Given the description of an element on the screen output the (x, y) to click on. 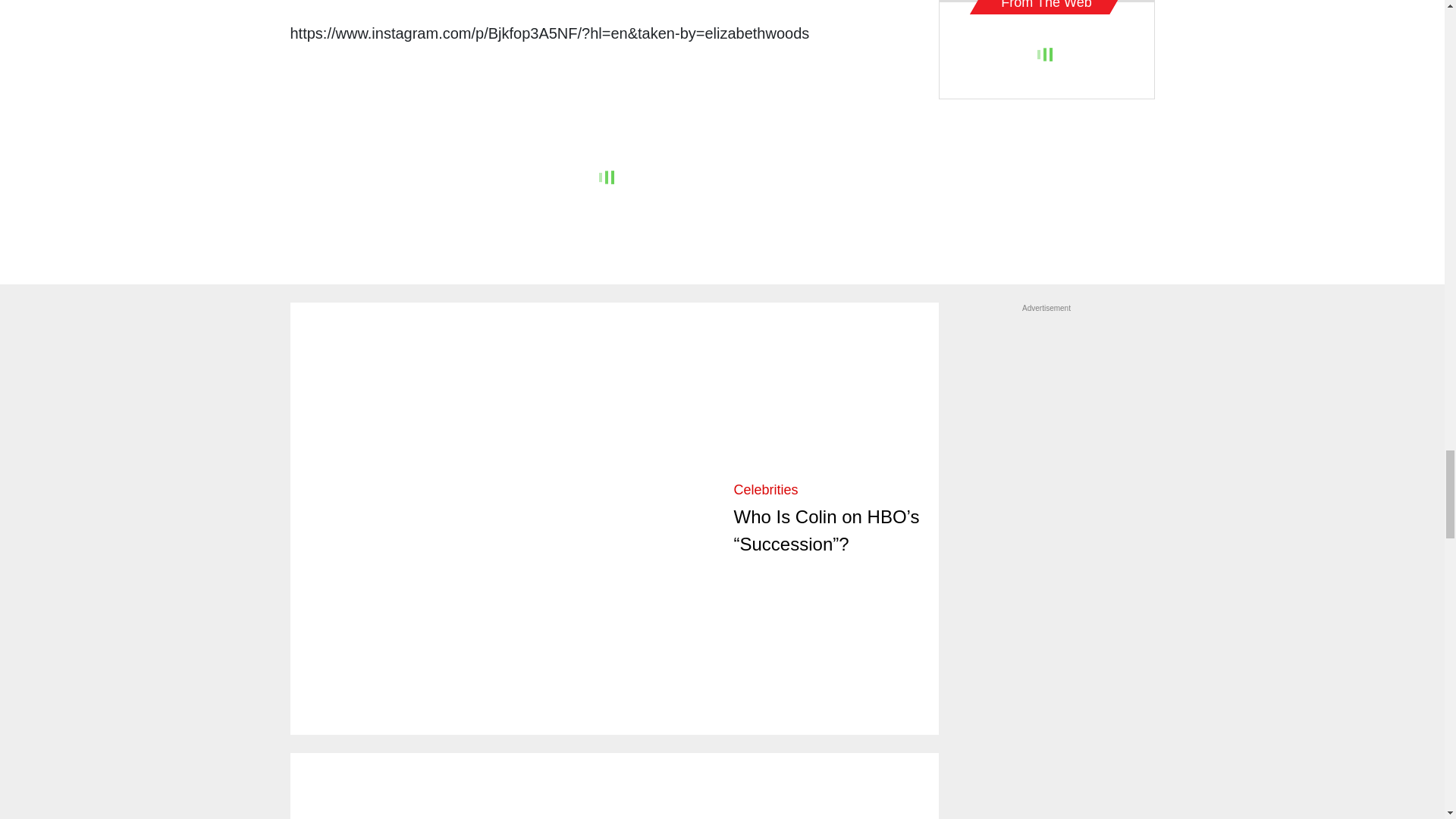
Category Name (765, 489)
